Given the description of an element on the screen output the (x, y) to click on. 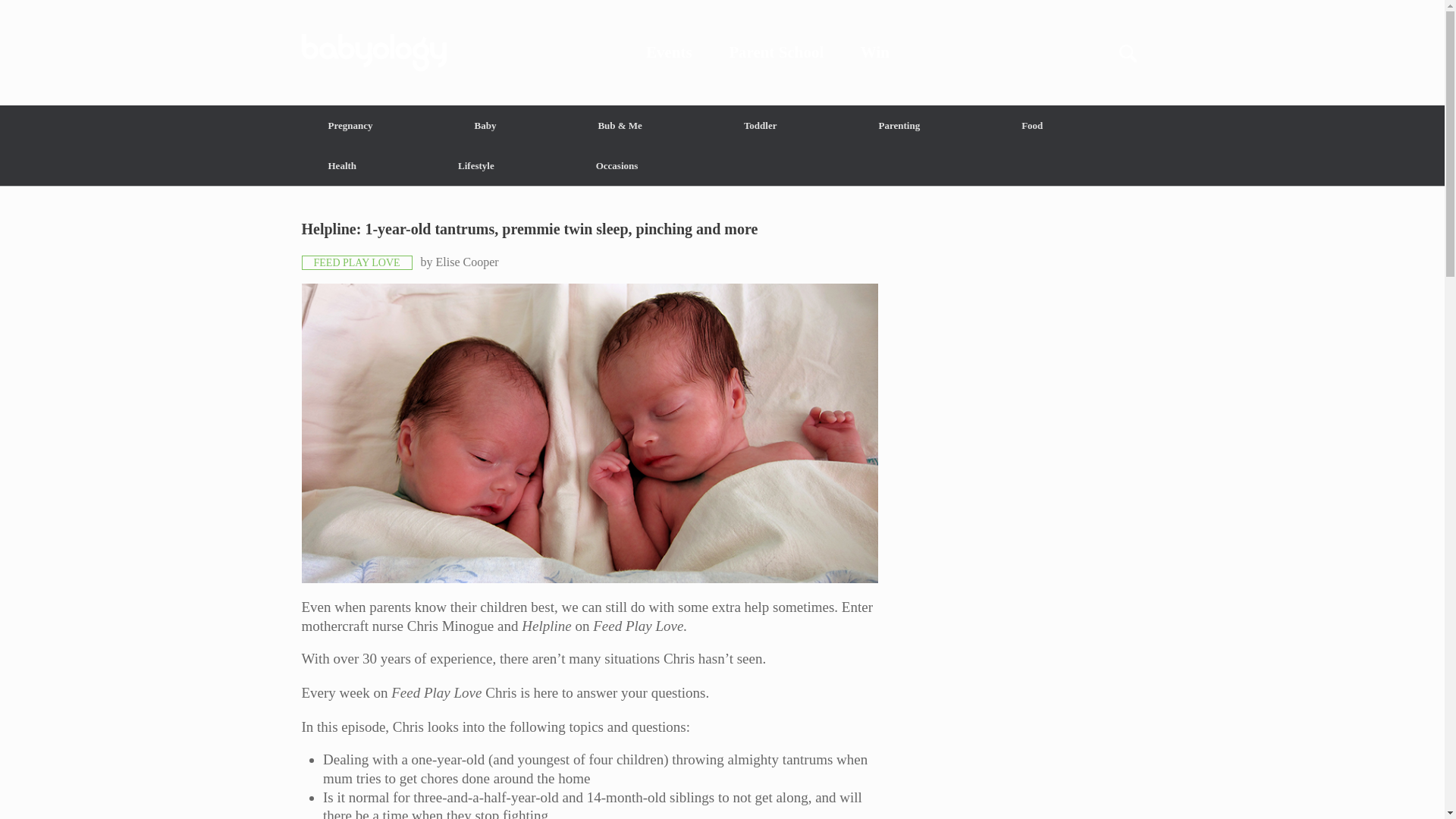
Win (874, 52)
Parenting (898, 125)
Elise Cooper (467, 261)
Babyology (721, 52)
FEED PLAY LOVE (356, 262)
Events (669, 52)
Food (1031, 125)
Pregnancy (349, 125)
Occasions (617, 165)
Toddler (760, 125)
View all posts by Elise Cooper (467, 261)
Baby (484, 125)
Health (342, 165)
Parent School (776, 52)
Lifestyle (475, 165)
